Given the description of an element on the screen output the (x, y) to click on. 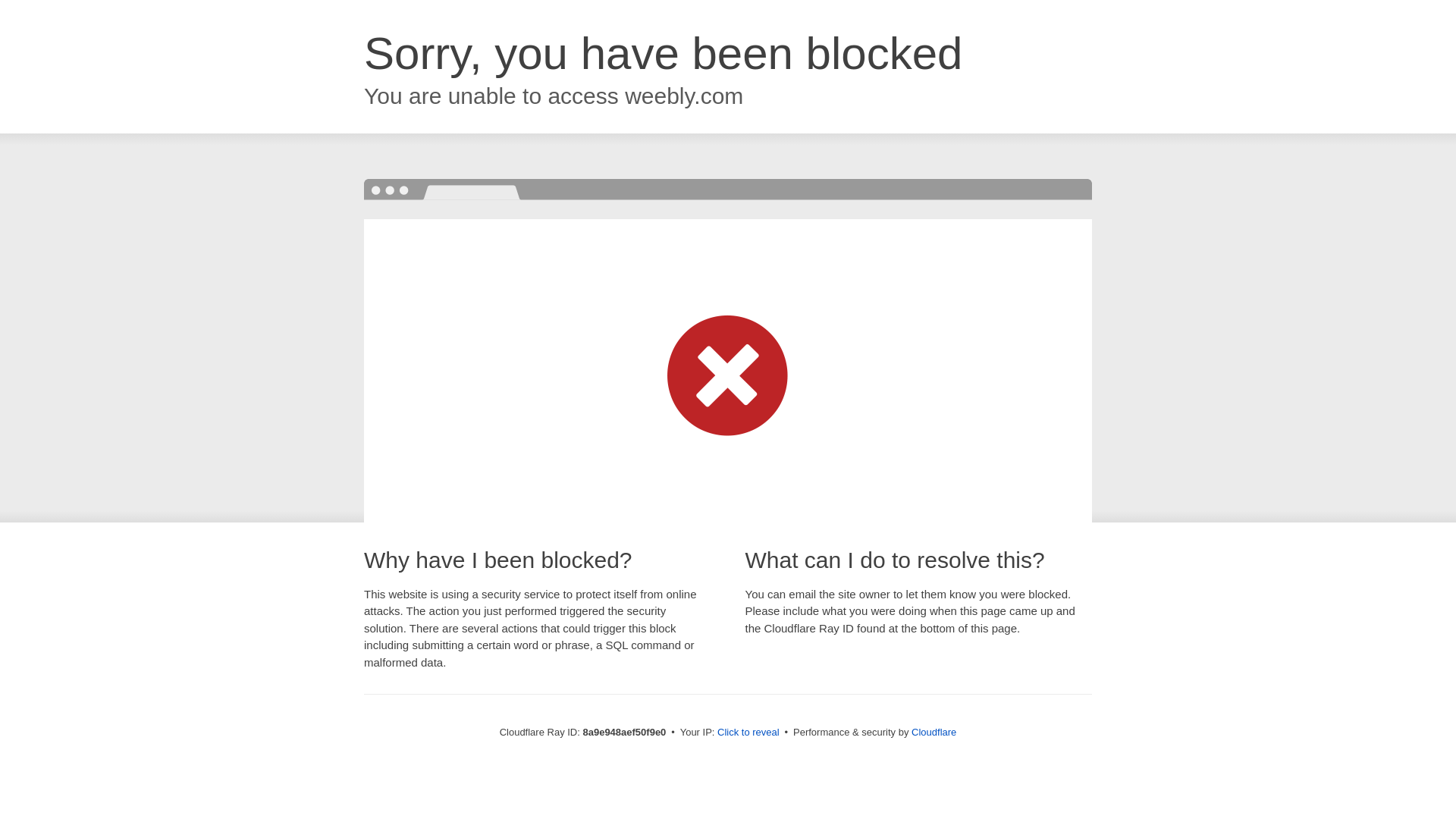
Cloudflare (933, 731)
Click to reveal (747, 732)
